Given the description of an element on the screen output the (x, y) to click on. 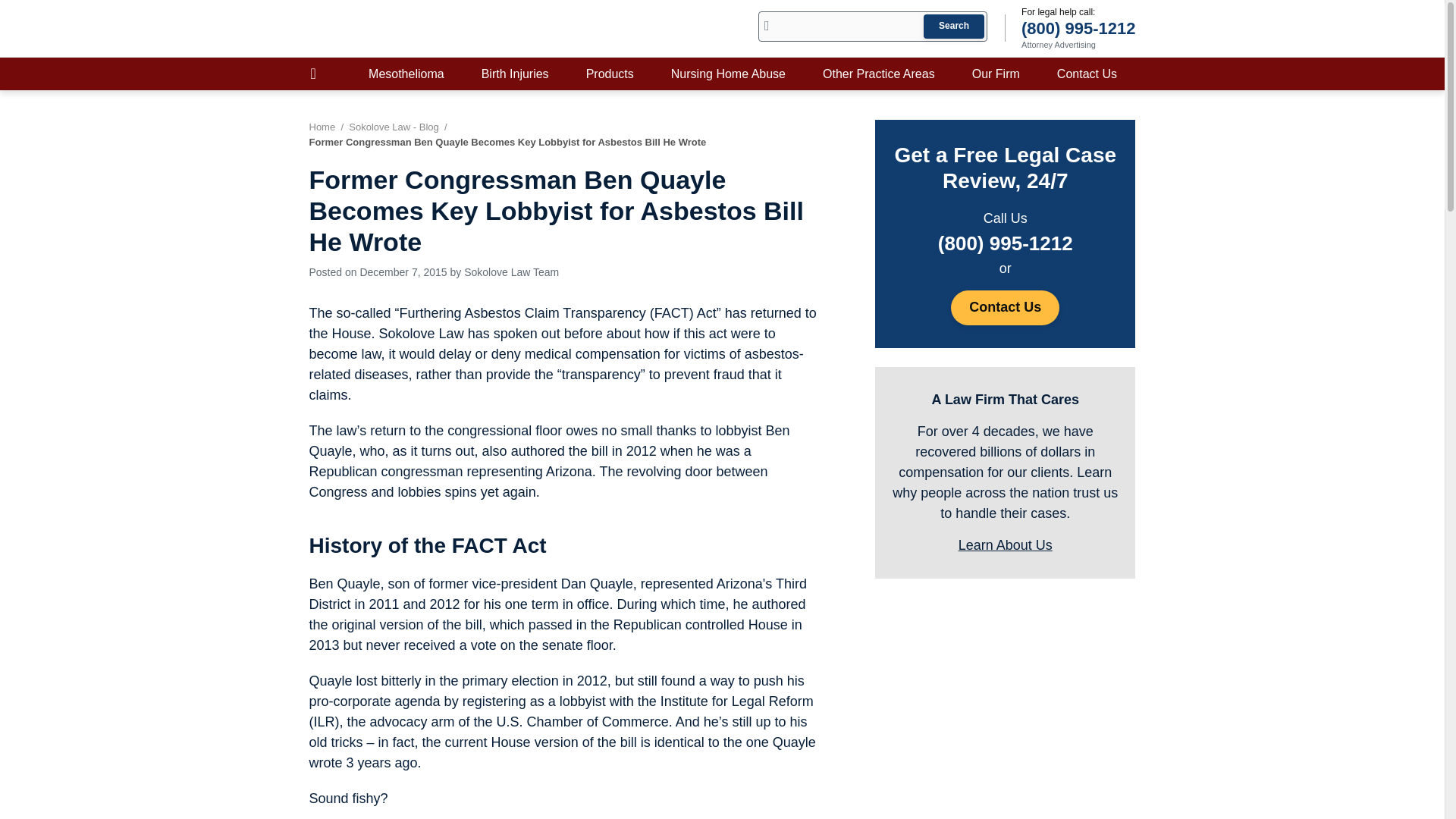
Search SokoloveLaw.com (872, 26)
Sokolove Law (402, 27)
Birth Injuries (515, 73)
Mesothelioma (406, 73)
Search (953, 26)
Mesothelioma (406, 73)
